Given the description of an element on the screen output the (x, y) to click on. 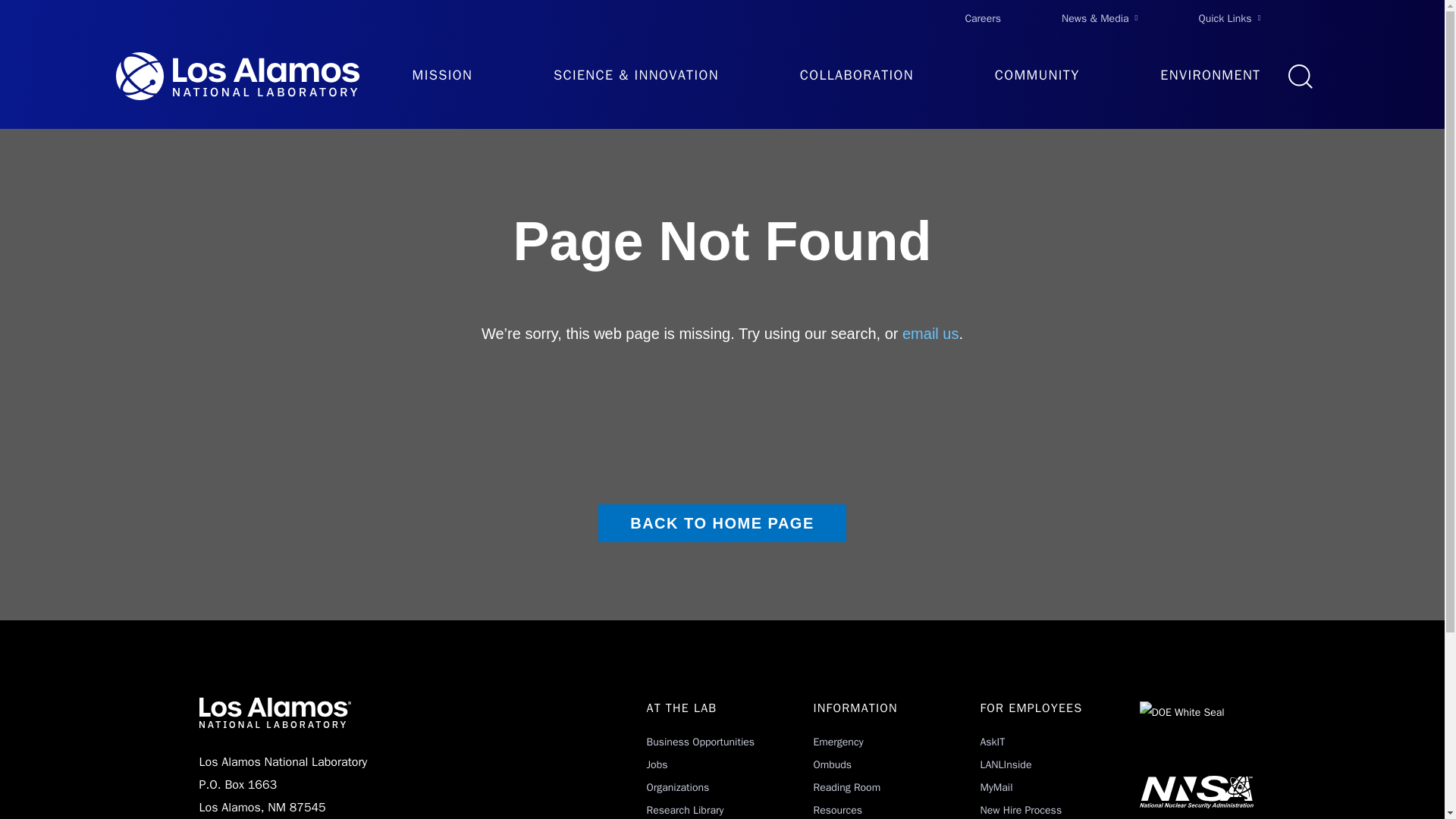
Business Opportunities (700, 741)
Emergency (837, 741)
AskIT (991, 741)
Research Library (684, 809)
Organizations (677, 787)
Careers (982, 18)
Jobs (656, 764)
Reading Room (846, 787)
email us (930, 333)
BACK TO HOME PAGE (721, 523)
Resources (836, 809)
Ombuds (831, 764)
